Given the description of an element on the screen output the (x, y) to click on. 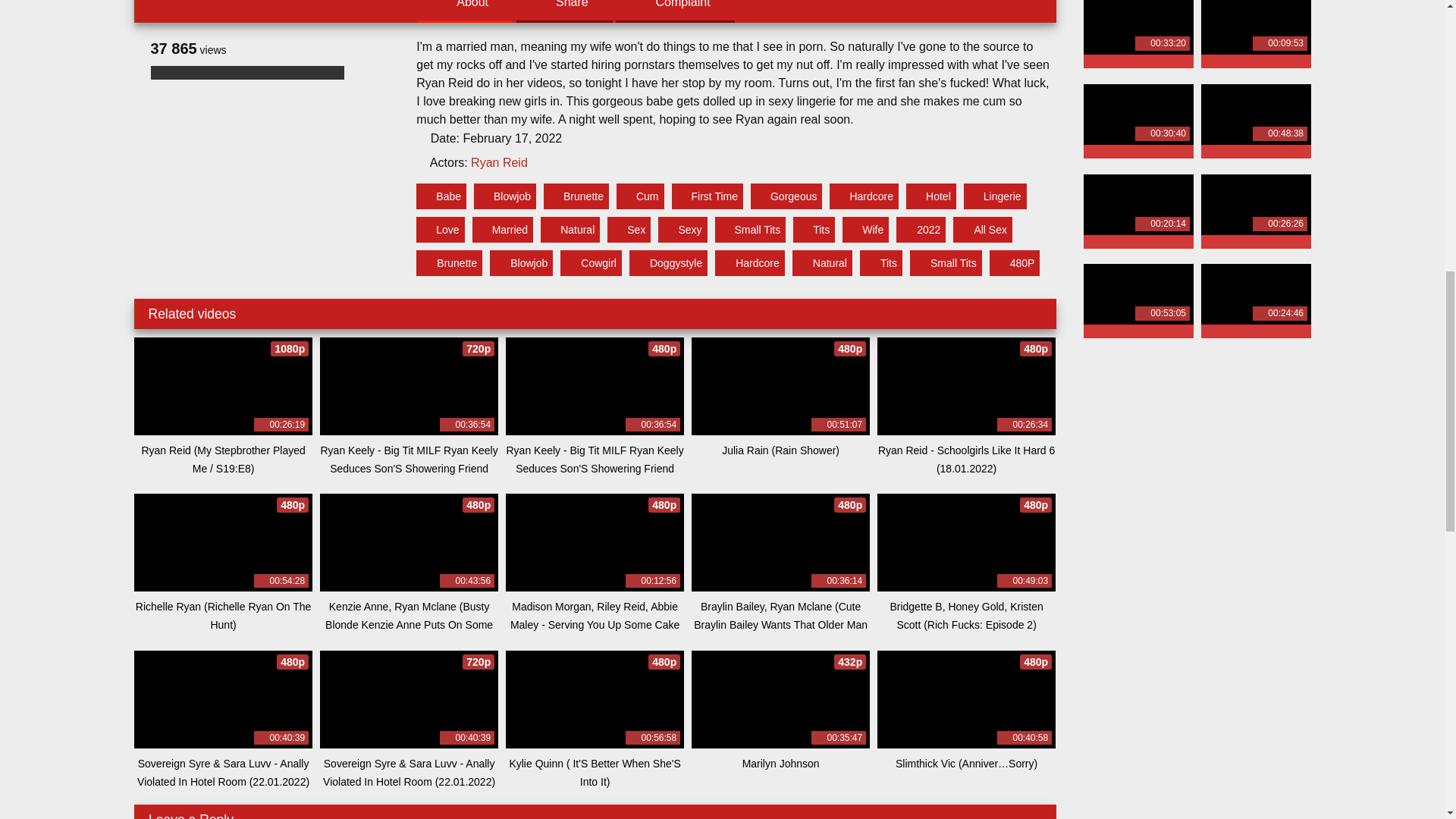
Babe (440, 196)
Married (501, 229)
Tits (813, 229)
Sexy (682, 229)
Brunette (575, 196)
Hardcore (863, 196)
Ryan Reid (498, 162)
First Time (706, 196)
Love (440, 229)
Complaint (675, 4)
